Given the description of an element on the screen output the (x, y) to click on. 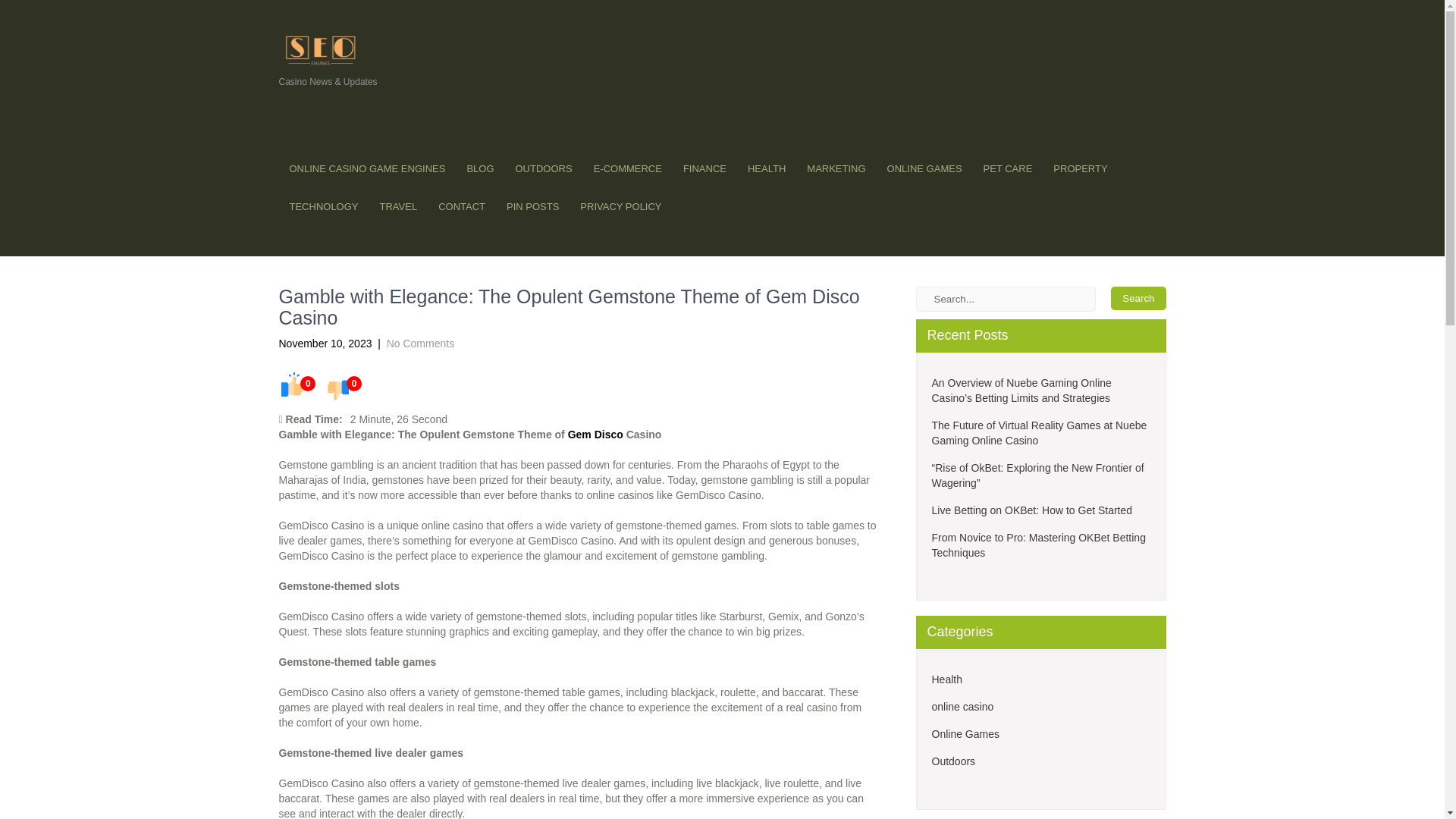
ONLINE CASINO GAME ENGINES (368, 168)
TRAVEL (398, 207)
PRIVACY POLICY (620, 207)
PIN POSTS (532, 207)
Search (1138, 298)
E-COMMERCE (627, 168)
ONLINE GAMES (924, 168)
BLOG (479, 168)
PET CARE (1007, 168)
PROPERTY (1080, 168)
FINANCE (704, 168)
Search (1138, 298)
TECHNOLOGY (324, 207)
CONTACT (462, 207)
